Given the description of an element on the screen output the (x, y) to click on. 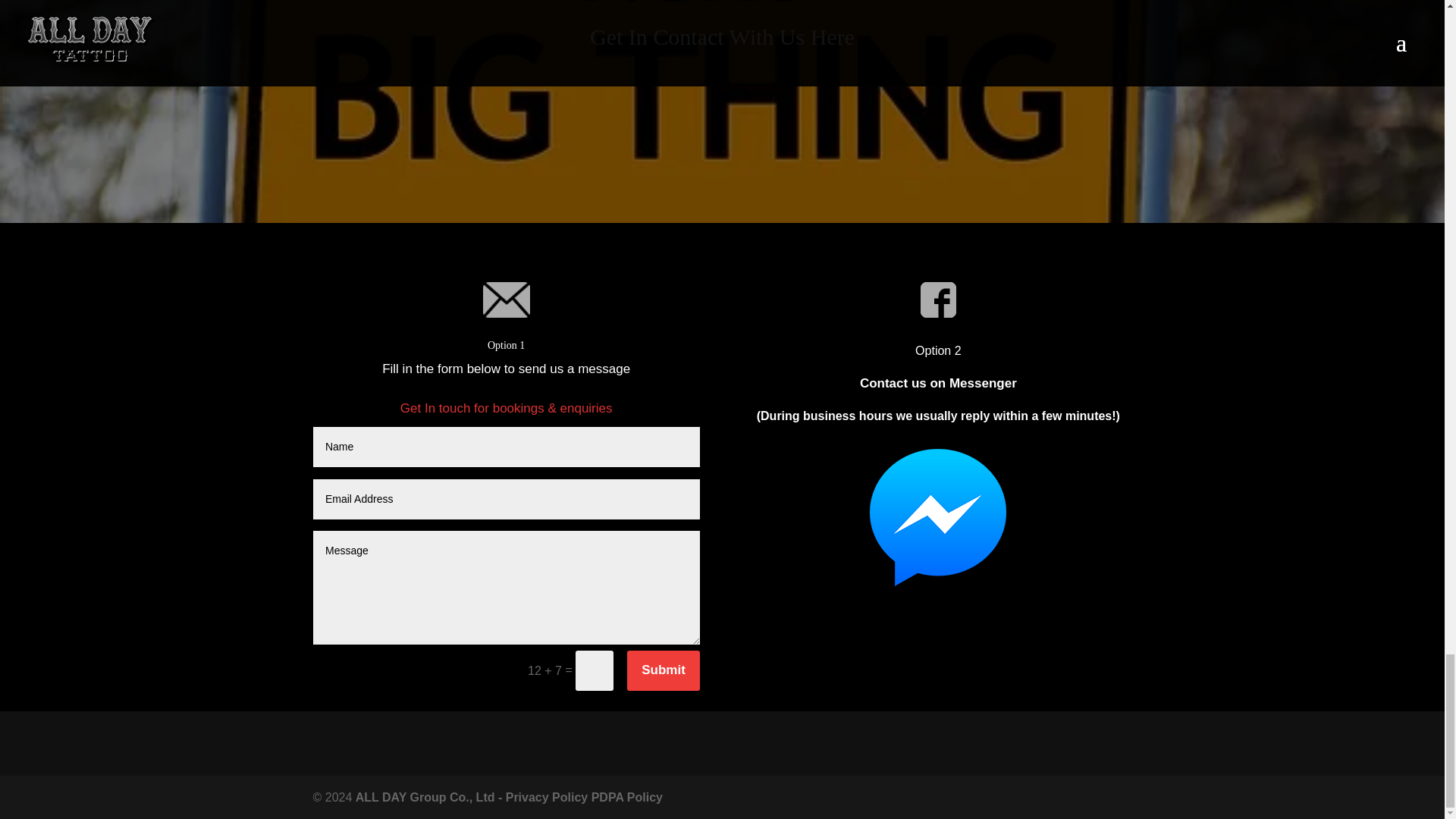
PDPA Policy (626, 797)
ALL DAY Group Co., Ltd - (430, 797)
Submit (663, 670)
Privacy Policy (546, 797)
